Given the description of an element on the screen output the (x, y) to click on. 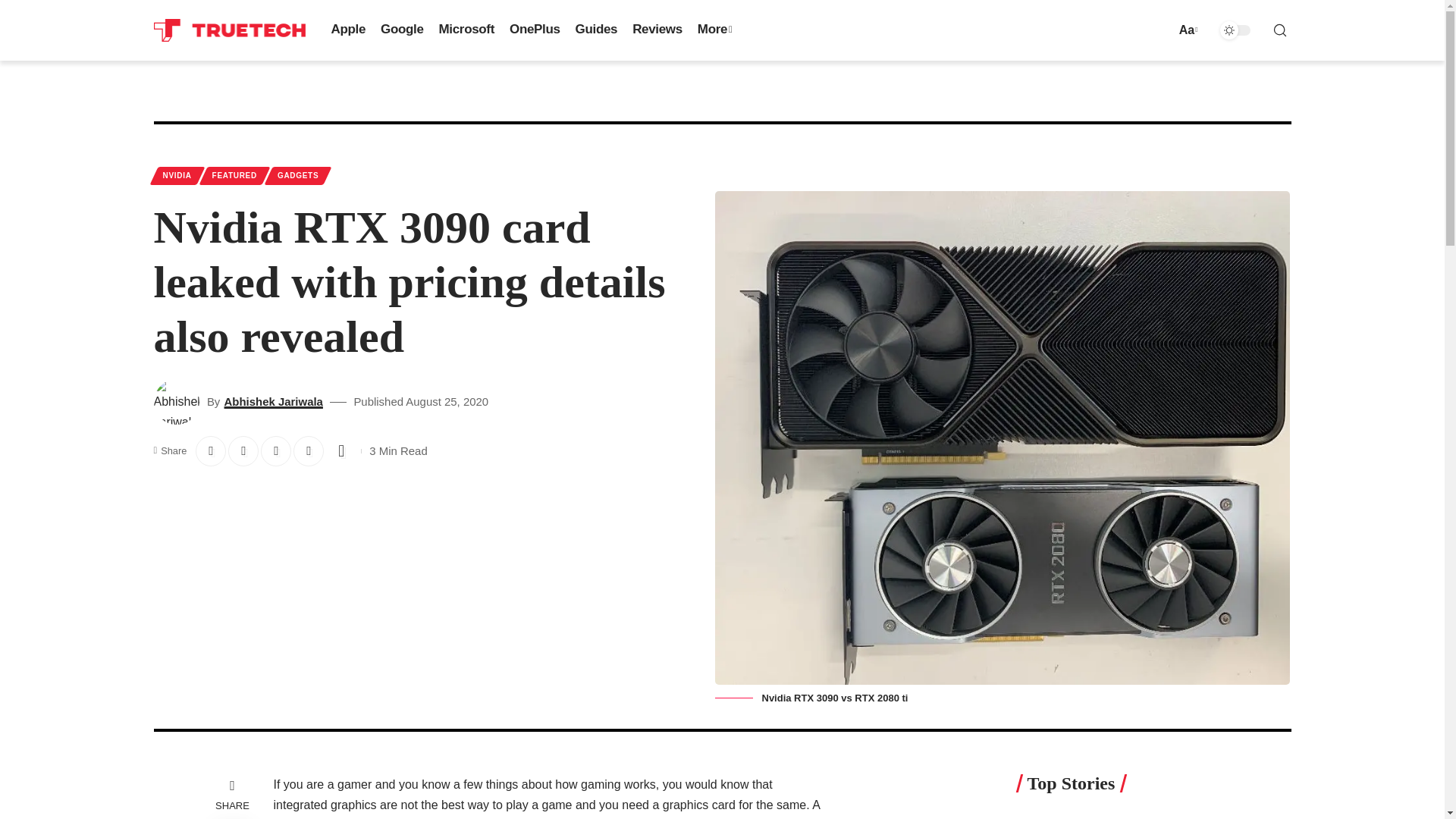
Google (401, 30)
OnePlus (534, 30)
Guides (596, 30)
Microsoft (466, 30)
Aa (1186, 29)
Apple (347, 30)
More (714, 30)
Reviews (657, 30)
